Given the description of an element on the screen output the (x, y) to click on. 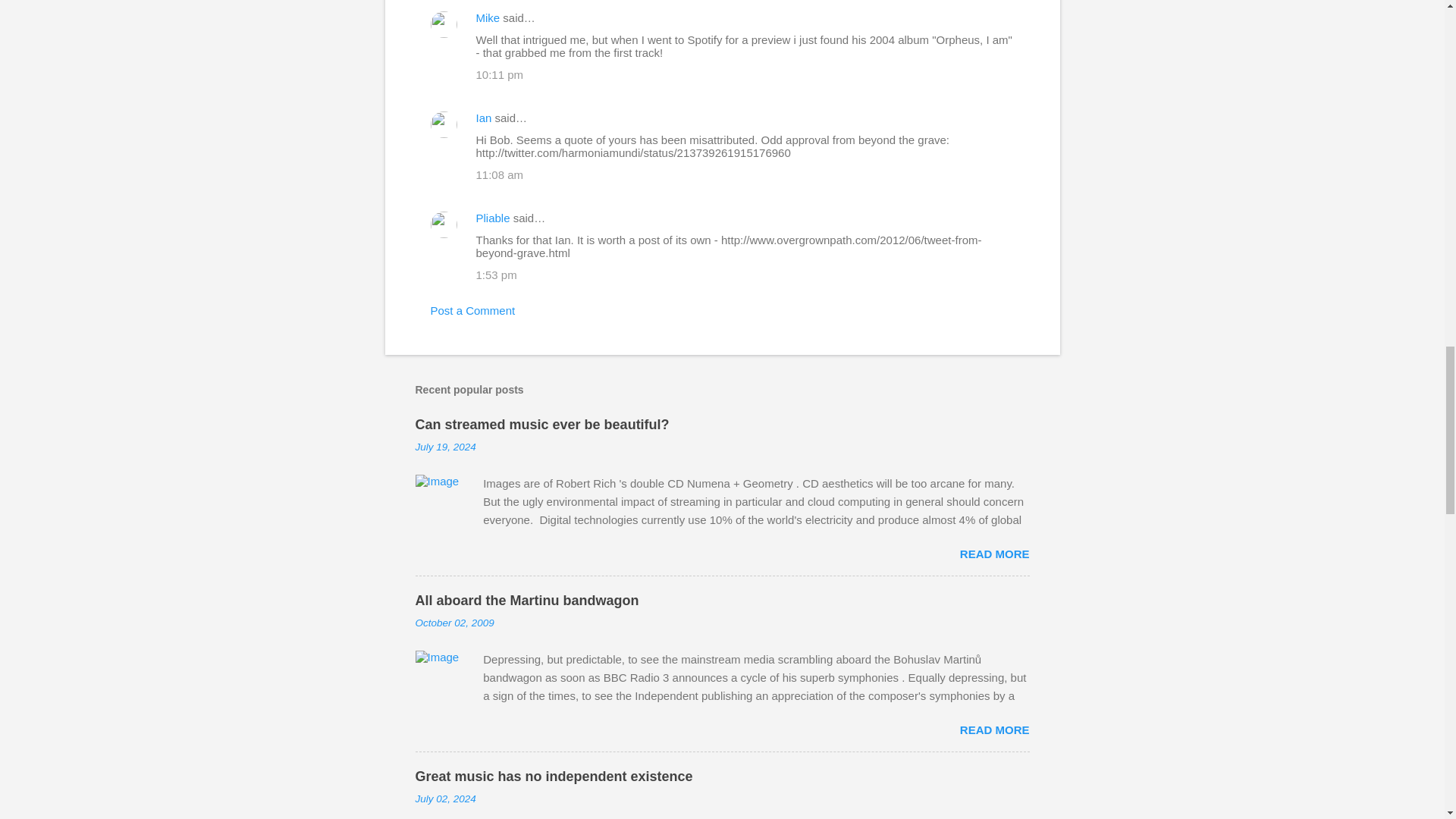
Ian (484, 117)
11:08 am (500, 174)
10:11 pm (500, 74)
Mike (488, 17)
